Given the description of an element on the screen output the (x, y) to click on. 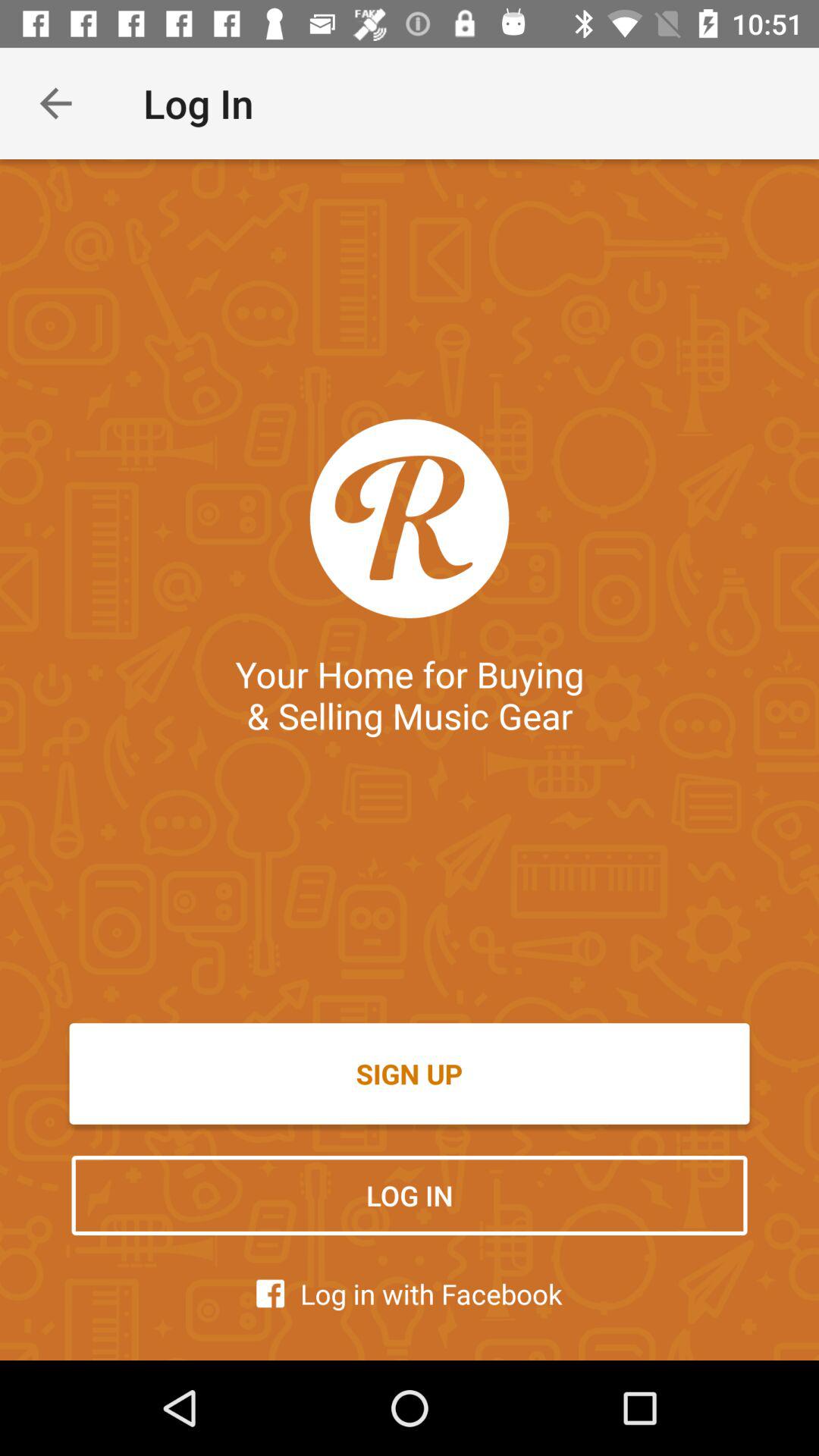
open icon next to log in item (55, 103)
